Given the description of an element on the screen output the (x, y) to click on. 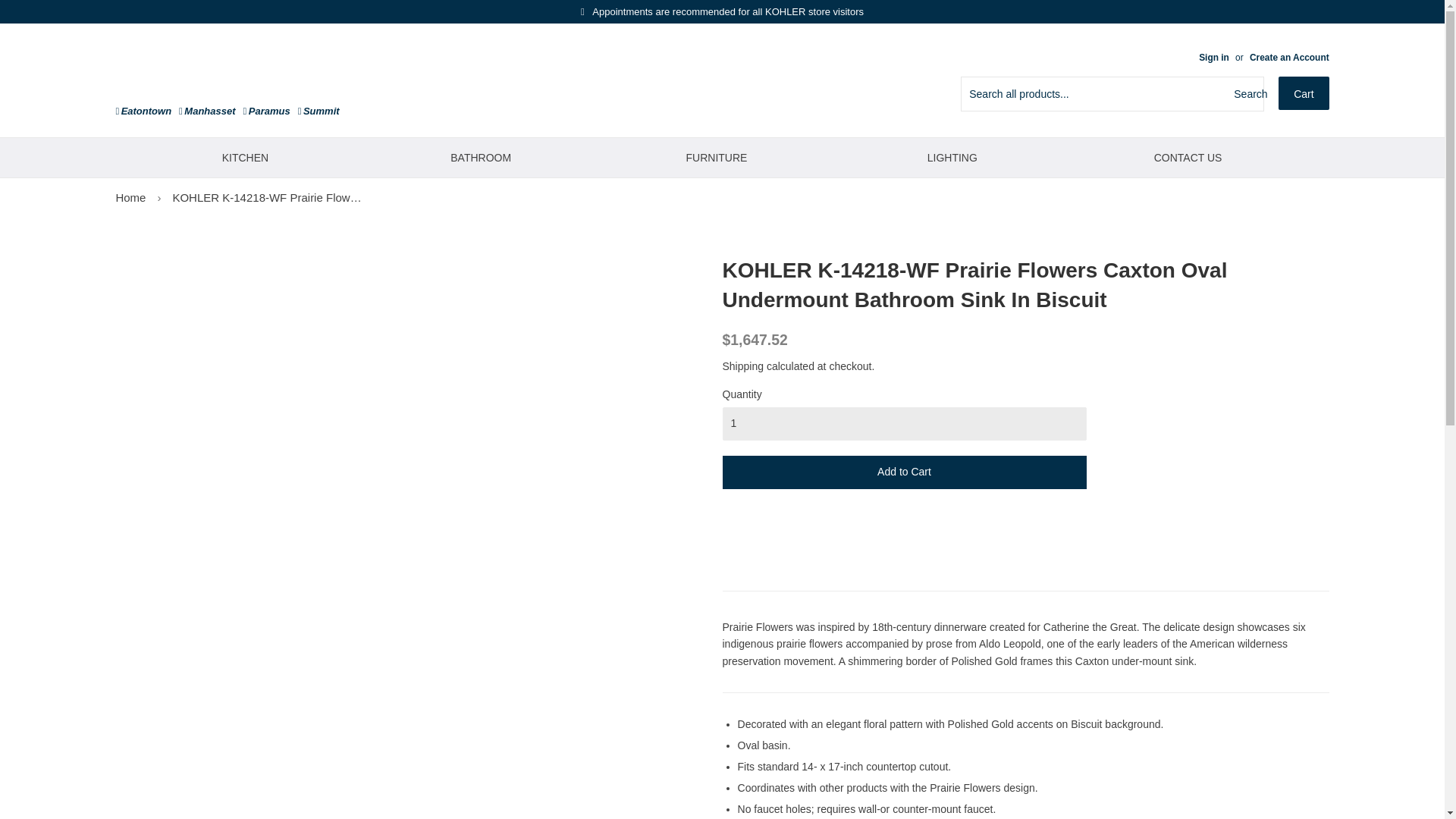
Cart (1302, 92)
Summit (318, 110)
Back to the frontpage (130, 197)
Paramus (266, 110)
Manhasset (206, 110)
Search (1245, 93)
1 (904, 423)
Create an Account (1289, 57)
Eatontown (143, 110)
Appointments are recommended for all KOHLER store visitors (721, 11)
